Given the description of an element on the screen output the (x, y) to click on. 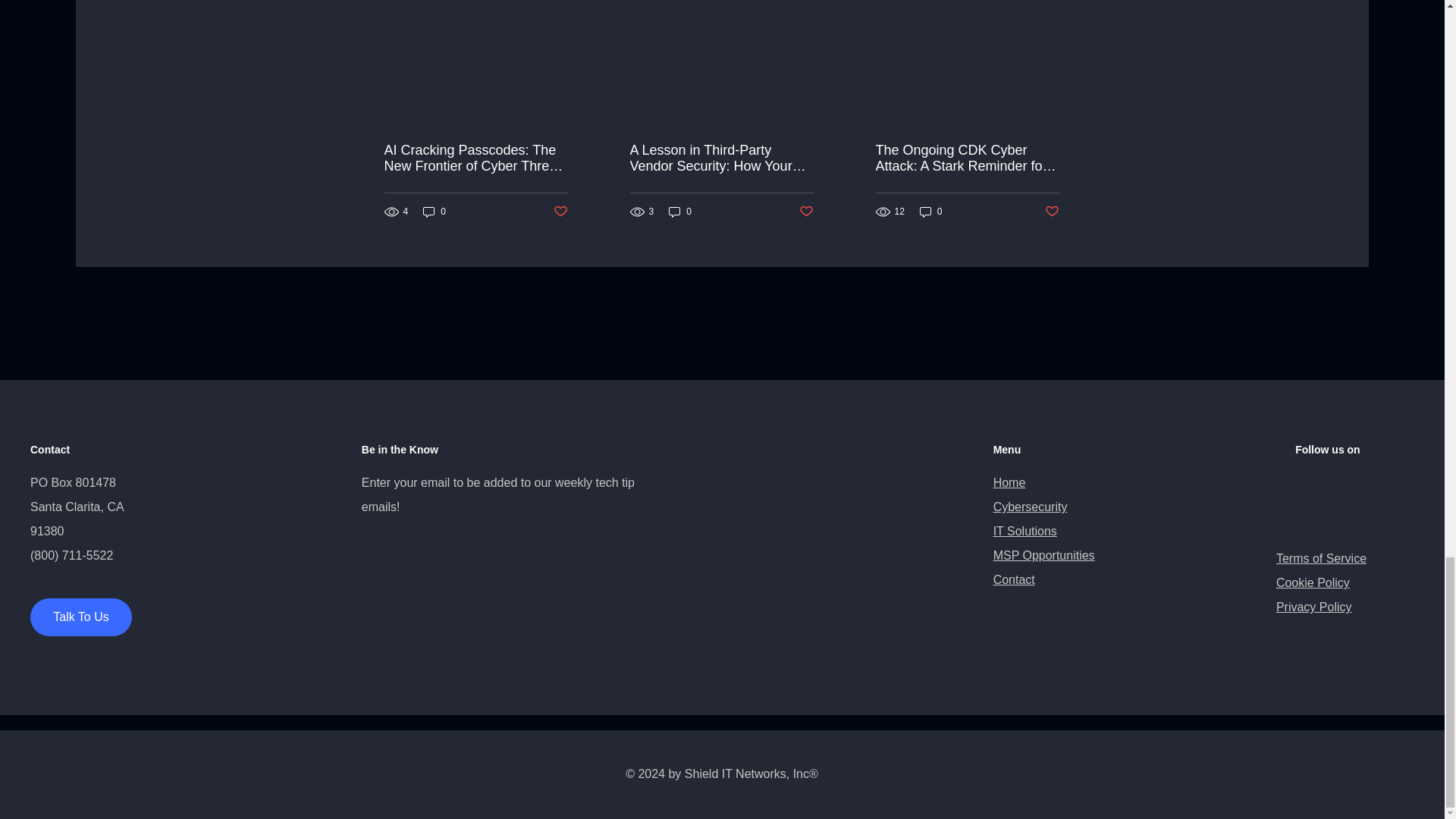
Terms of Service (1321, 558)
0 (930, 211)
0 (434, 211)
Home (1009, 481)
Post not marked as liked (1052, 211)
Talk To Us (81, 617)
MSP Opportunities (1043, 554)
Post not marked as liked (560, 211)
Cybersecurity (1029, 506)
Contact (1013, 579)
IT Solutions (1024, 530)
0 (679, 211)
Post not marked as liked (806, 211)
